Given the description of an element on the screen output the (x, y) to click on. 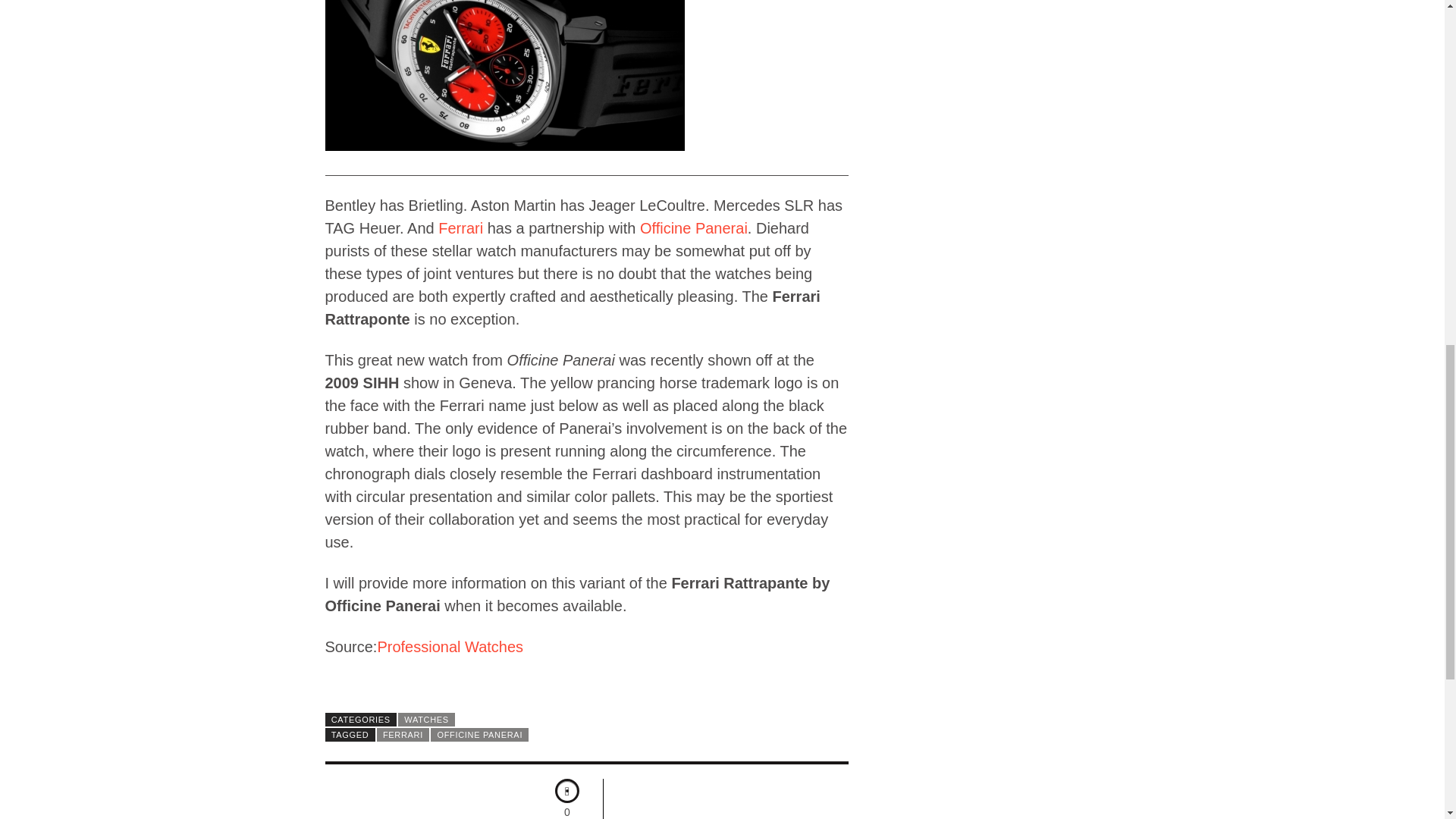
View all posts tagged Officine Panerai (479, 735)
Officine Panerai (694, 228)
View all posts in Watches (425, 719)
WATCHES (425, 719)
FERRARI (403, 735)
Professional Watches (449, 646)
Ferrari (460, 228)
View all posts tagged Ferrari (403, 735)
OFFICINE PANERAI (479, 735)
